Given the description of an element on the screen output the (x, y) to click on. 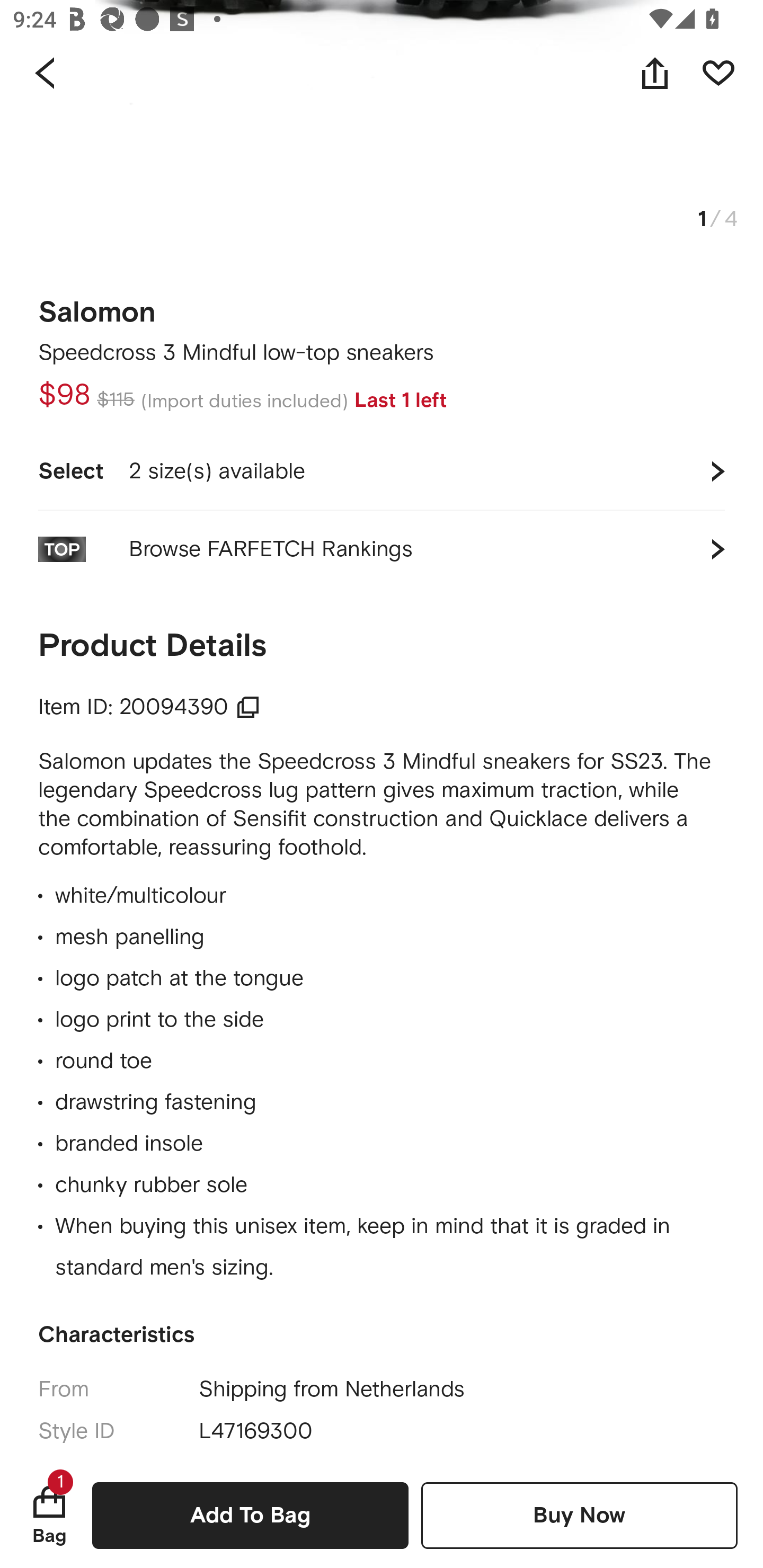
Salomon (97, 306)
Select 2 size(s) available (381, 470)
Browse FARFETCH Rankings (381, 549)
Item ID: 20094390 (149, 707)
Bag 1 (49, 1515)
Add To Bag (250, 1515)
Buy Now (579, 1515)
